Given the description of an element on the screen output the (x, y) to click on. 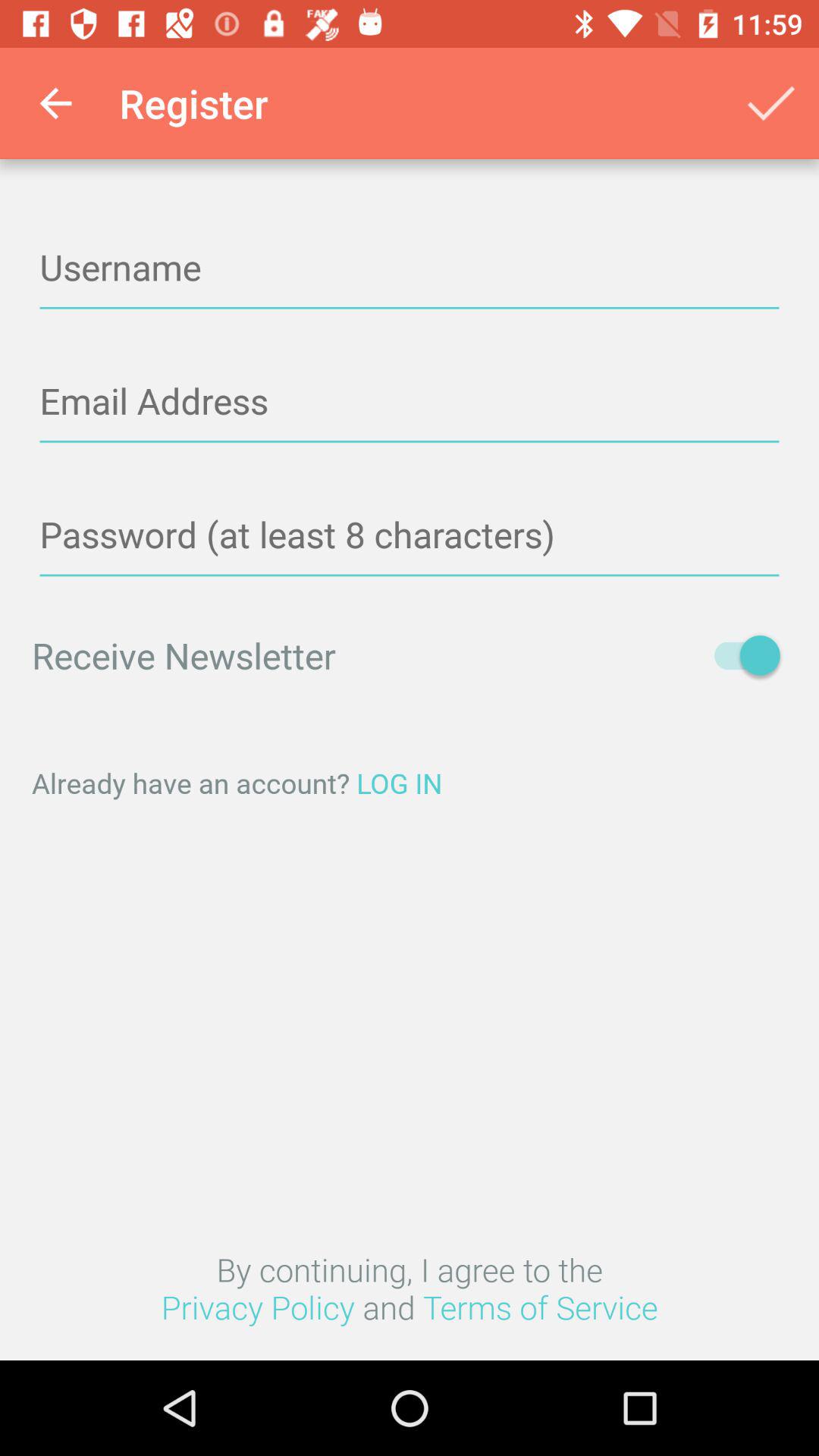
receive newsletter toggle (739, 655)
